Given the description of an element on the screen output the (x, y) to click on. 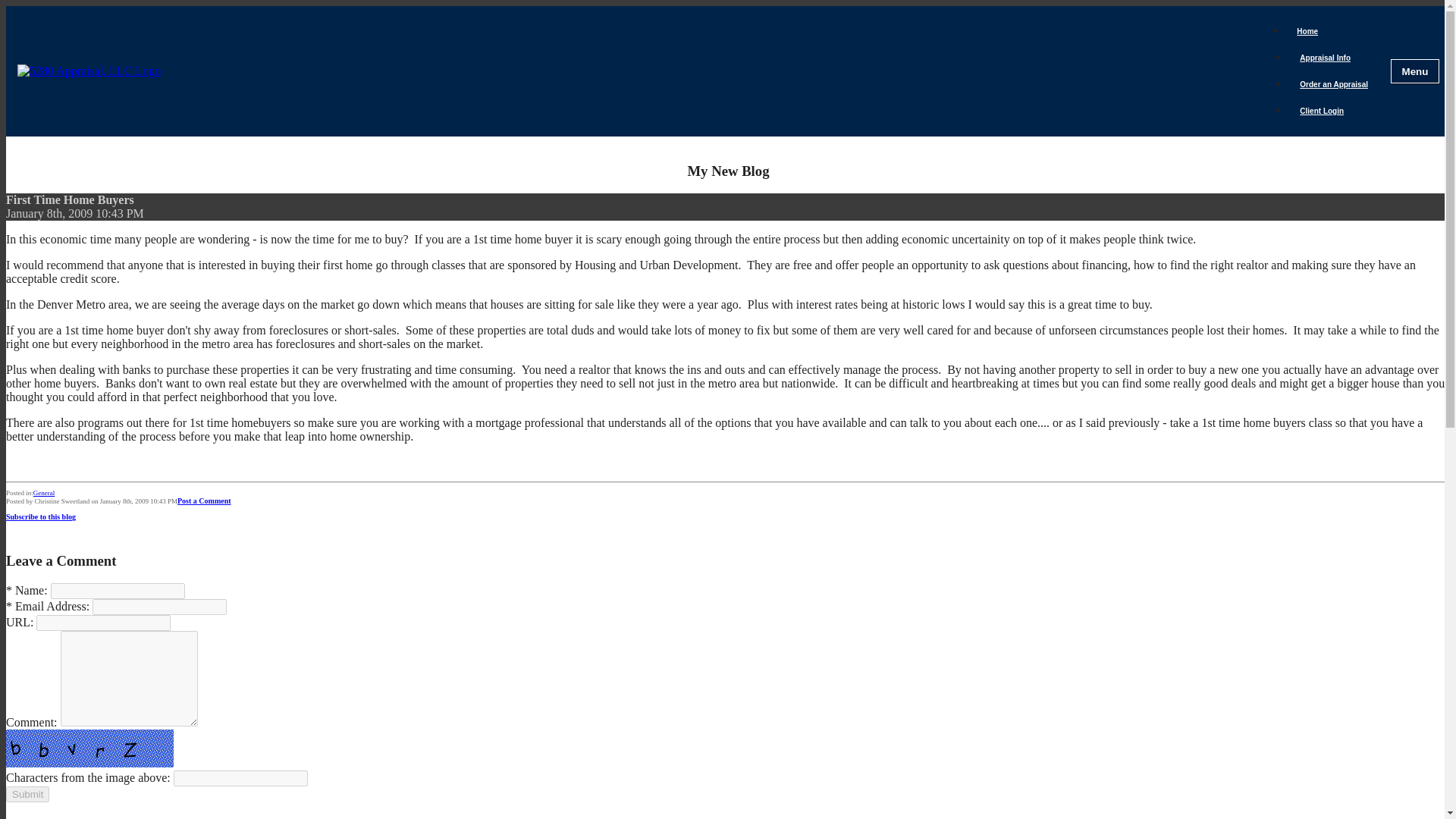
Submit (27, 794)
Order an Appraisal (1333, 83)
Subscribe to this blog (40, 516)
Client Login (1321, 110)
Menu (1414, 70)
General (44, 492)
Submit (27, 794)
Post a Comment (204, 500)
Home (1307, 31)
Appraisal Info (1324, 57)
